Given the description of an element on the screen output the (x, y) to click on. 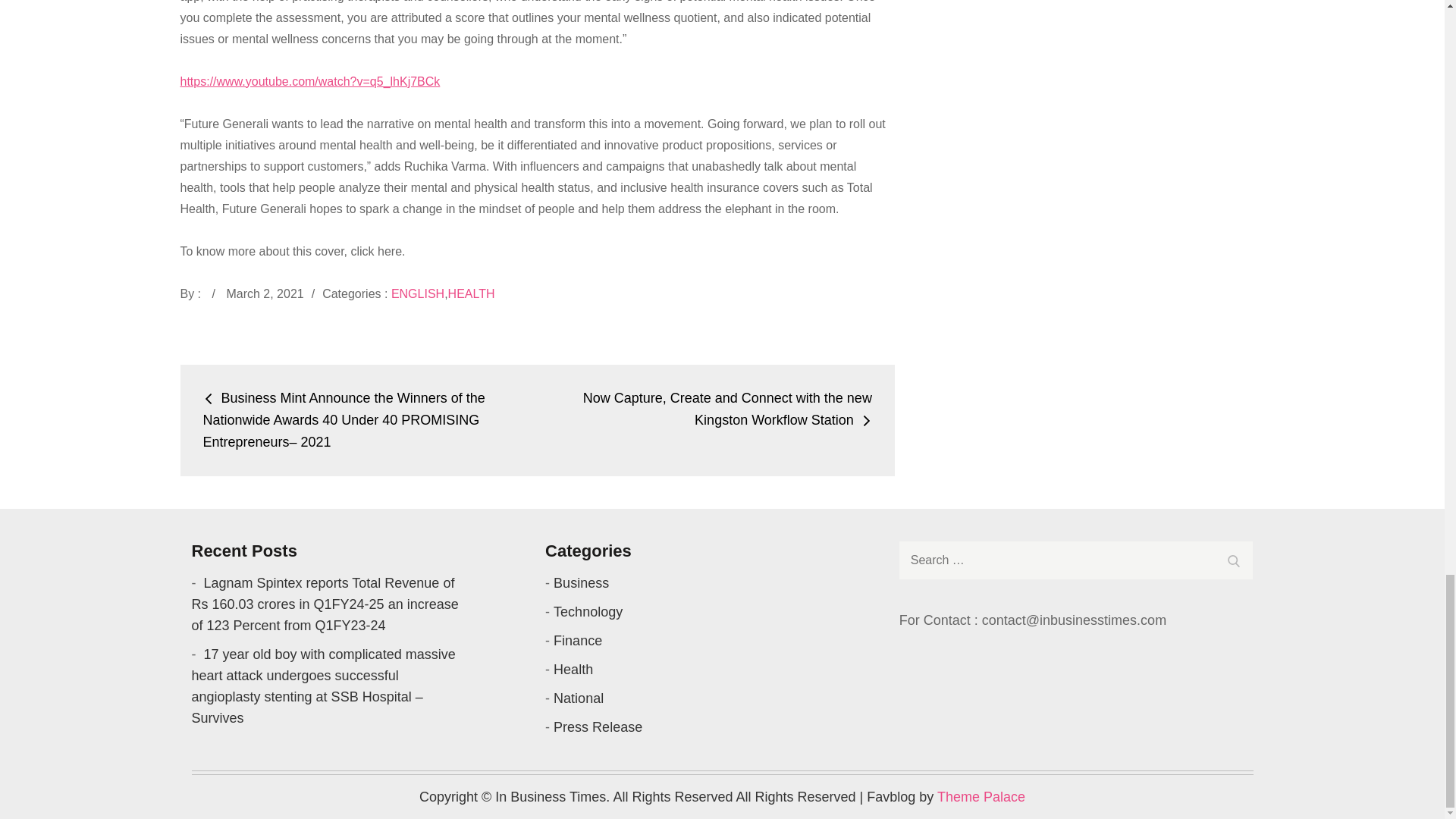
HEALTH (471, 293)
ENGLISH (417, 293)
Technology (588, 611)
Business (580, 582)
March 2, 2021 (263, 293)
